Given the description of an element on the screen output the (x, y) to click on. 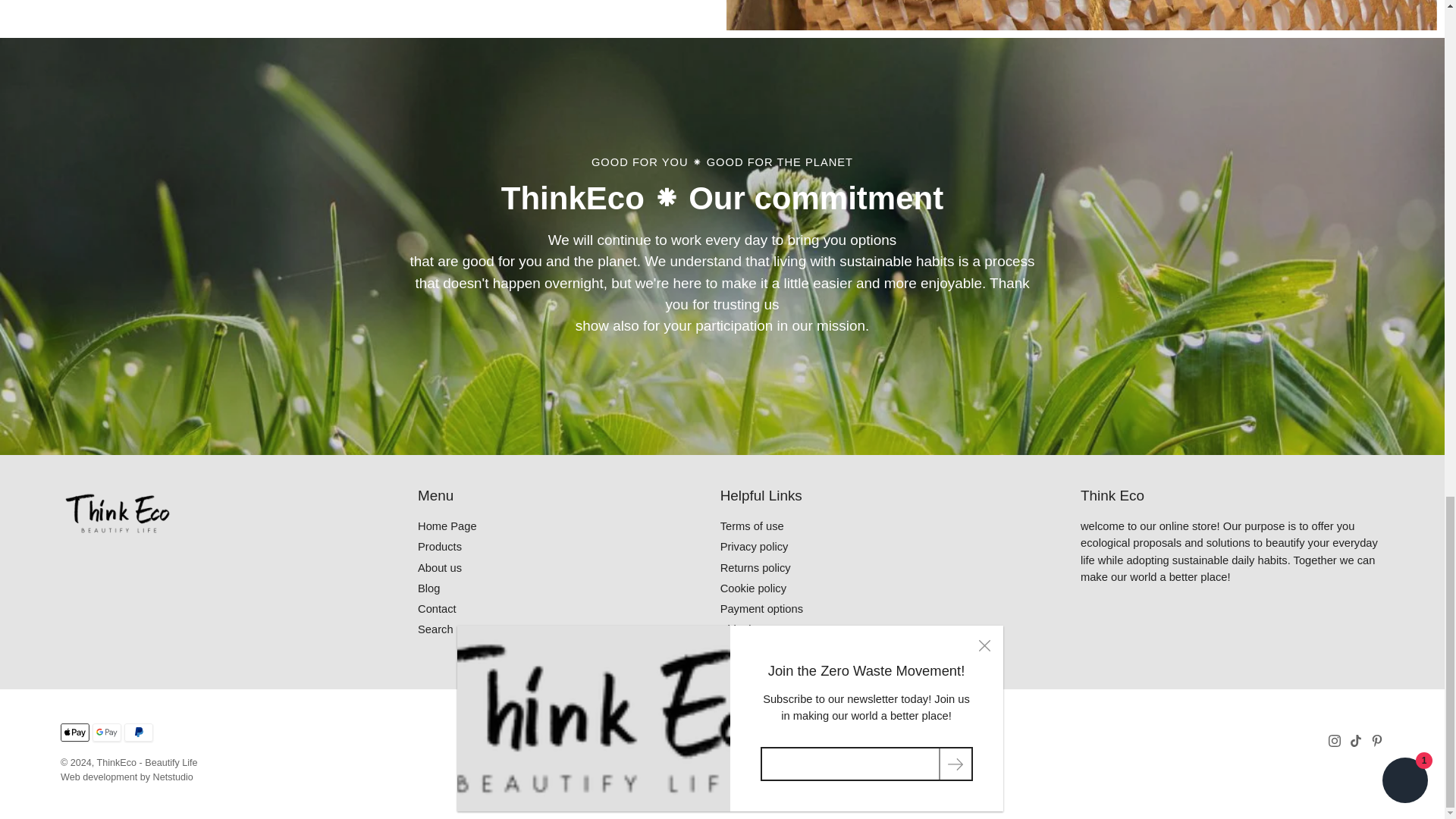
PayPal (137, 732)
Apple Pay (74, 732)
Google Pay (106, 732)
Web development by Netstudio (127, 777)
